Given the description of an element on the screen output the (x, y) to click on. 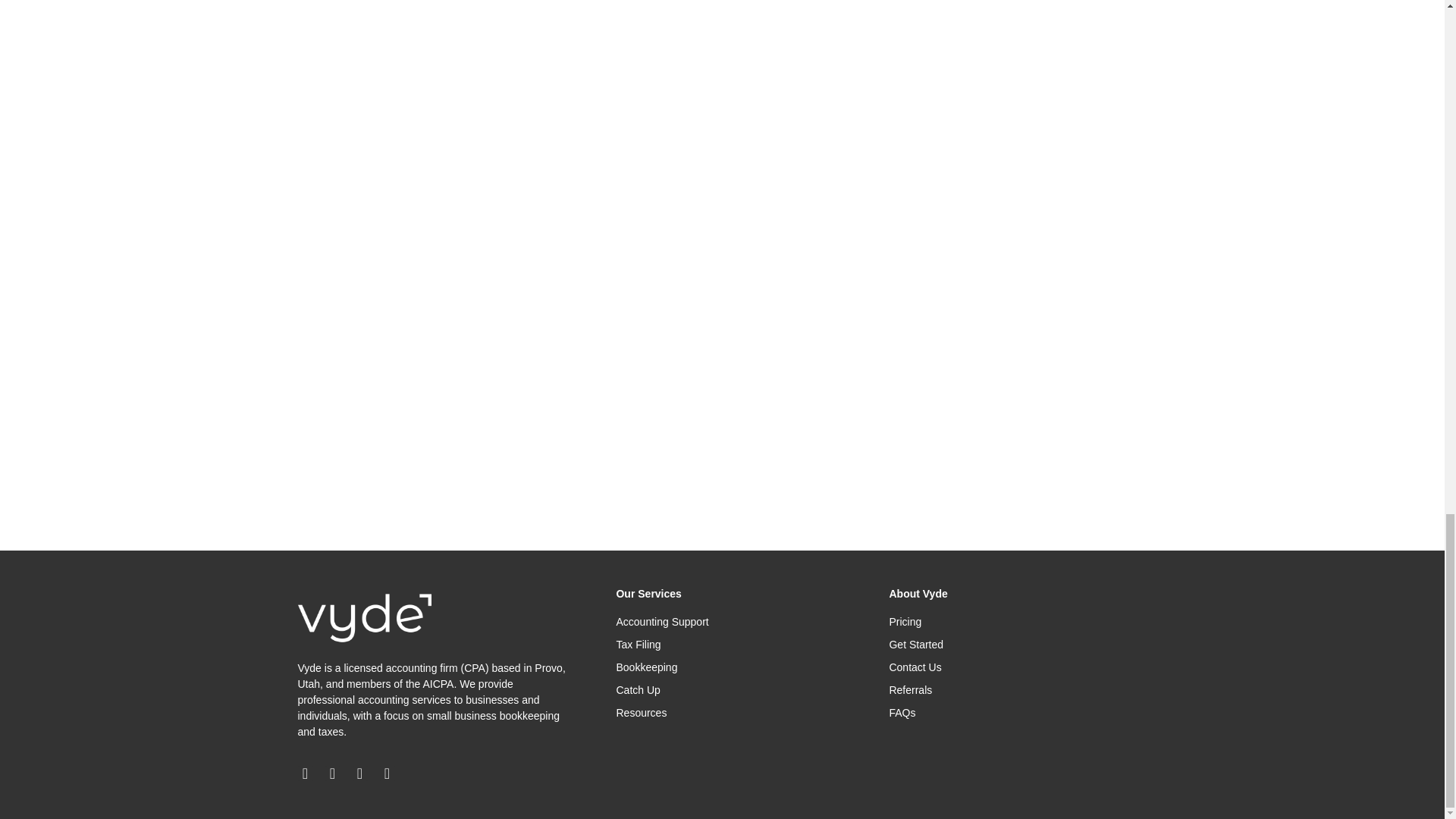
Bookkeeping (729, 667)
Accounting Support (729, 621)
Our Services (648, 593)
Tax Filing (729, 644)
Catch Up (729, 690)
